Given the description of an element on the screen output the (x, y) to click on. 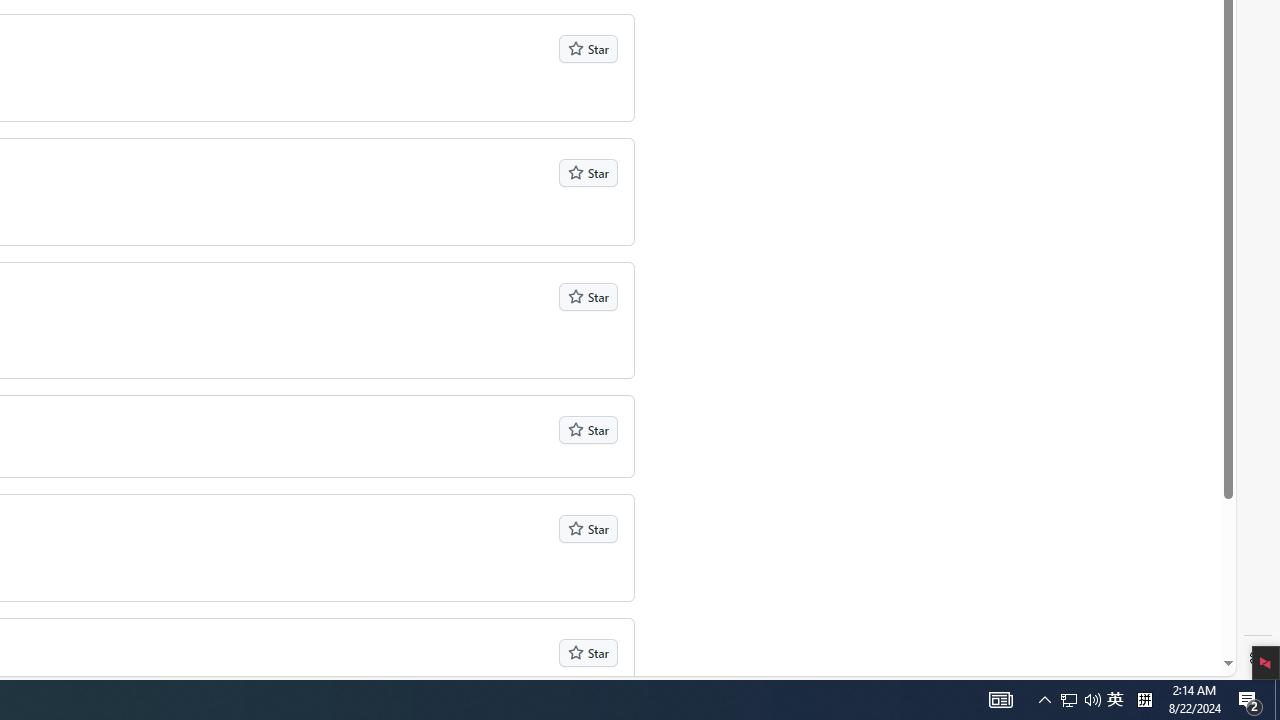
Settings (1258, 658)
Star (588, 652)
